Given the description of an element on the screen output the (x, y) to click on. 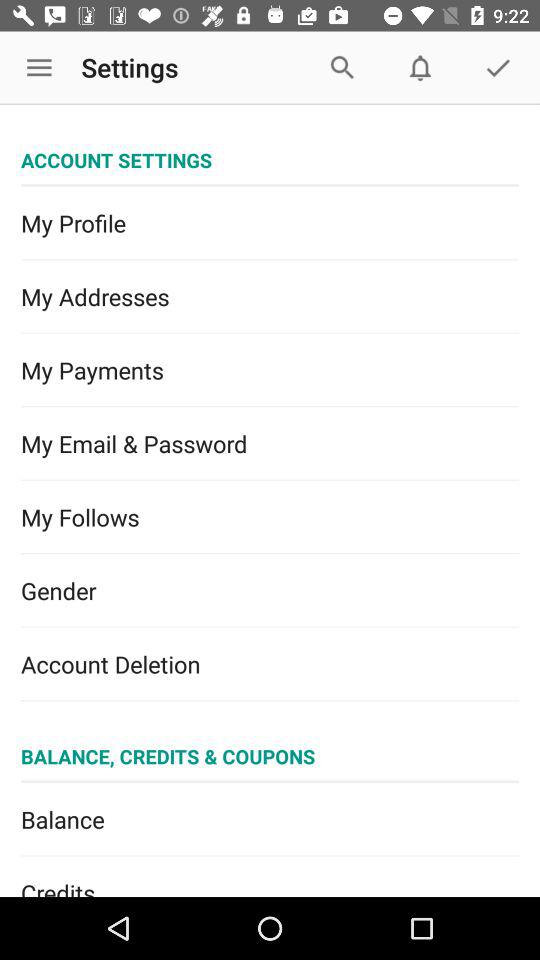
select the icon below the gender item (270, 664)
